Given the description of an element on the screen output the (x, y) to click on. 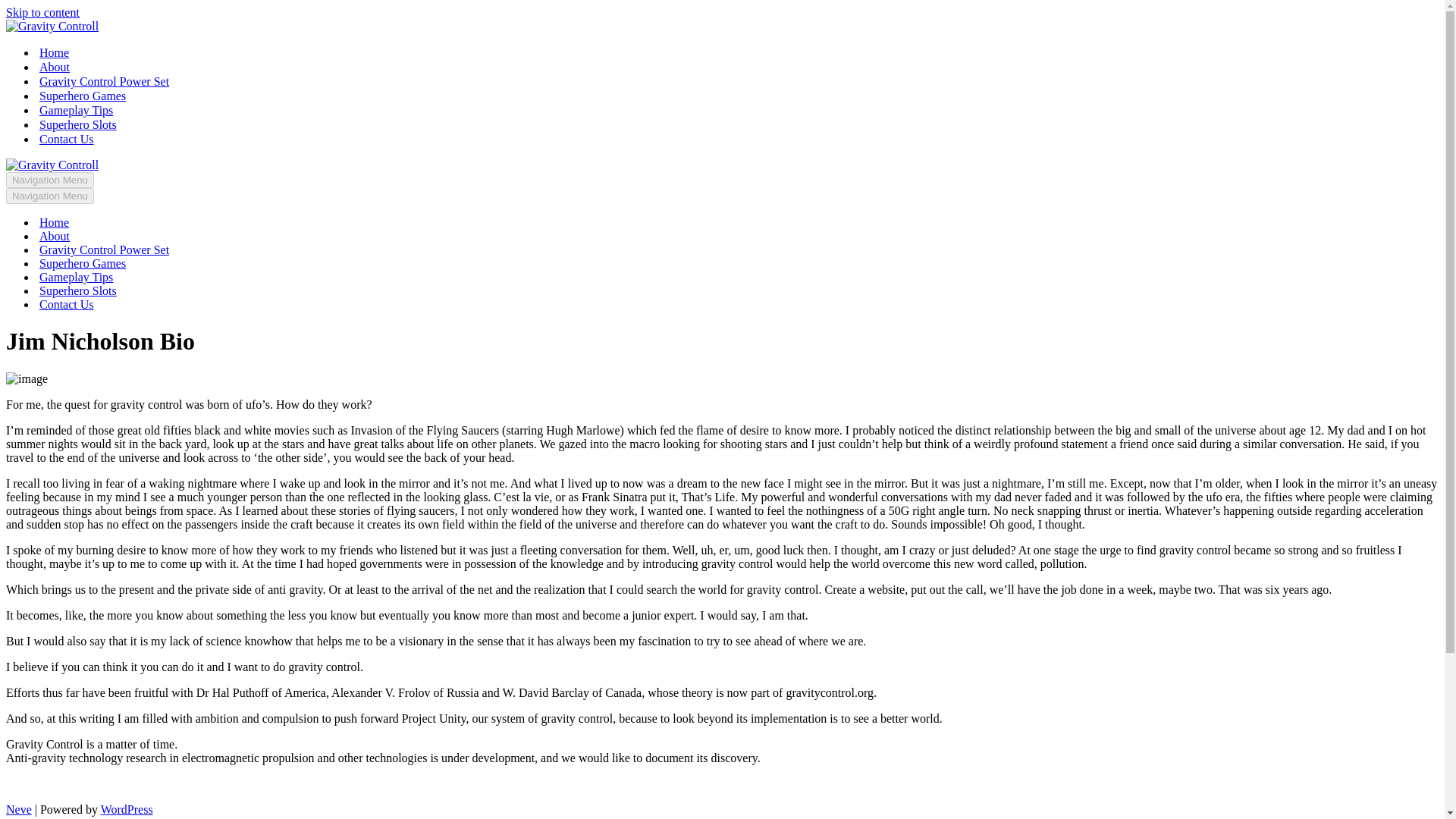
Superhero Slots (77, 291)
About (54, 66)
Contact Us (66, 138)
Gameplay Tips (76, 277)
Skip to content (42, 11)
Contact Us (66, 305)
Gameplay Tips (76, 110)
WordPress (126, 809)
Gravity Control Power Set (103, 250)
Superhero Slots (77, 124)
Gravity Control Power Set (103, 81)
Superhero Games (82, 95)
Neve (18, 809)
Home (53, 223)
Superhero Games (82, 264)
